Given the description of an element on the screen output the (x, y) to click on. 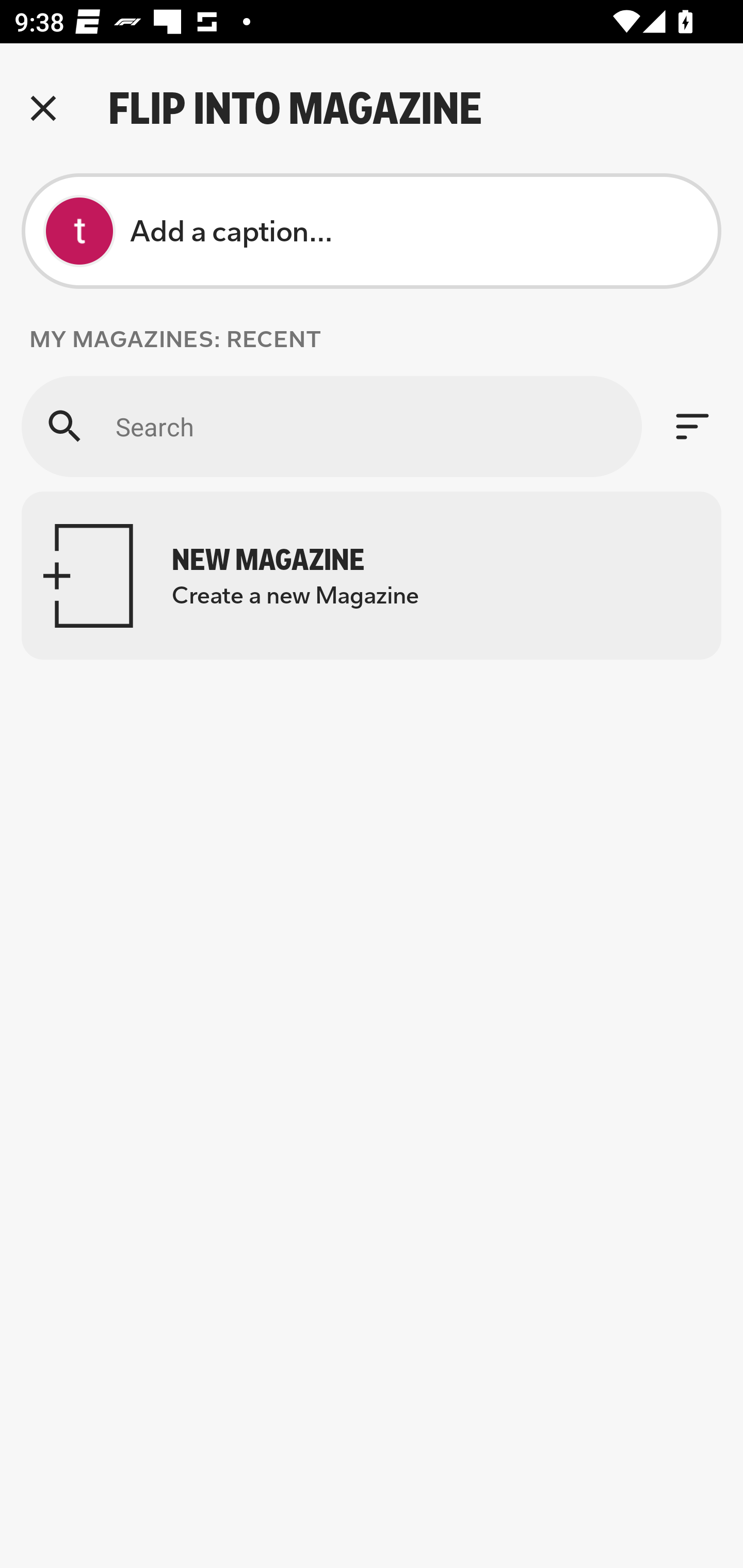
test appium Add a caption… (371, 231)
Search (331, 426)
NEW MAGAZINE Create a new Magazine (371, 575)
